Given the description of an element on the screen output the (x, y) to click on. 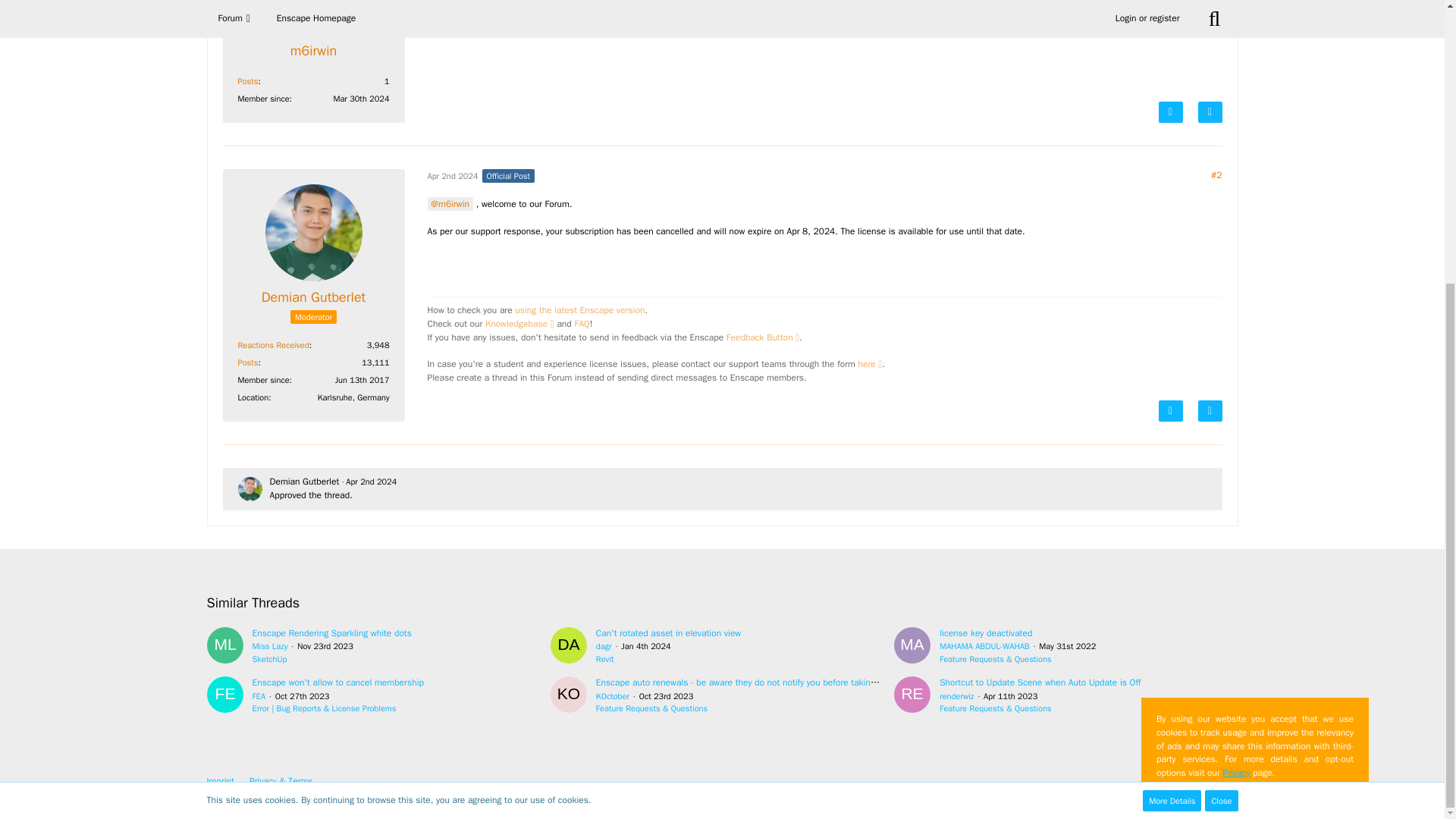
Feedback Button (762, 337)
Reactions Received (273, 344)
FAQ (581, 323)
Posts (248, 362)
Apr 2nd 2024 (453, 175)
